Given the description of an element on the screen output the (x, y) to click on. 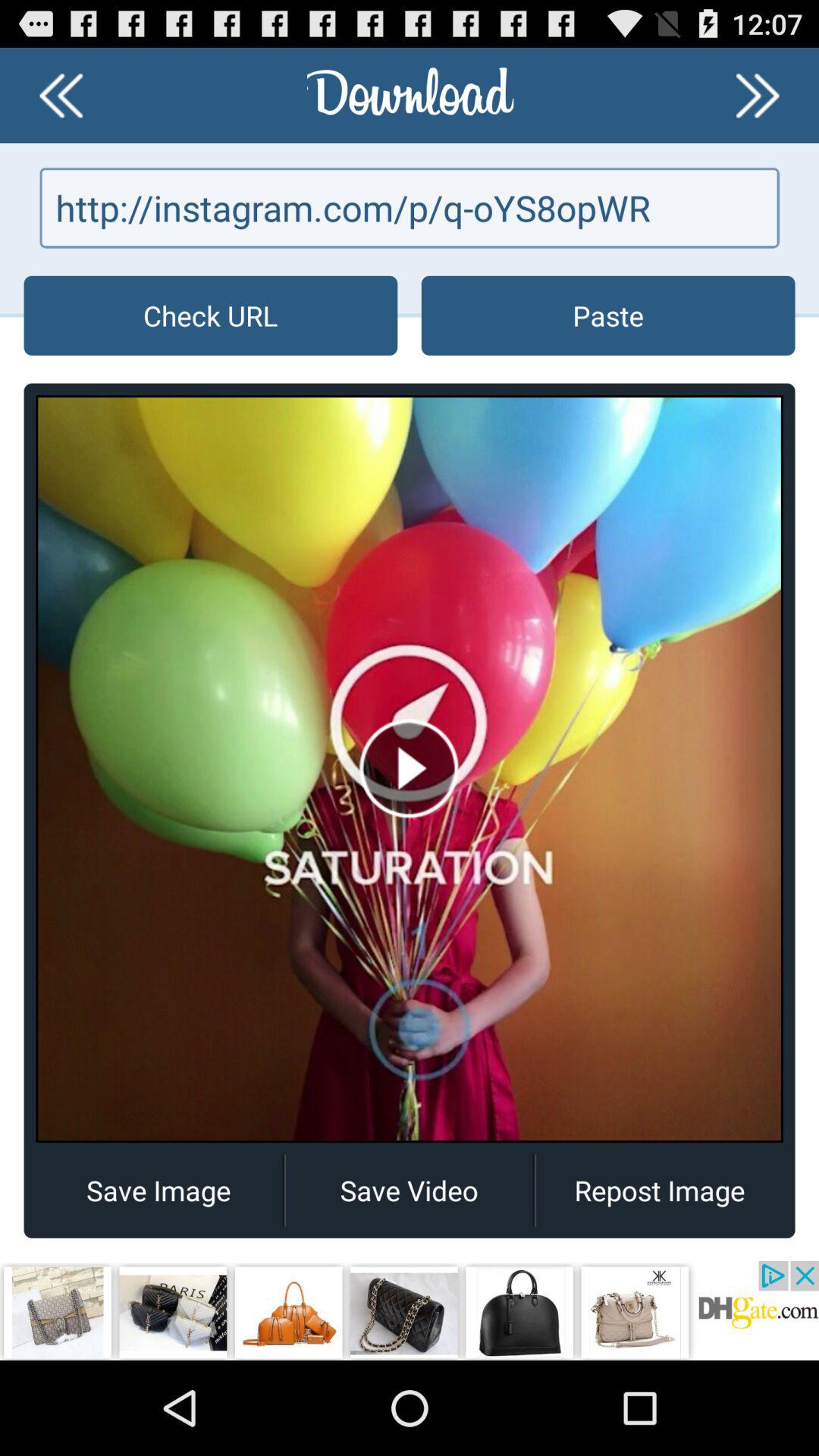
go back (61, 95)
